Given the description of an element on the screen output the (x, y) to click on. 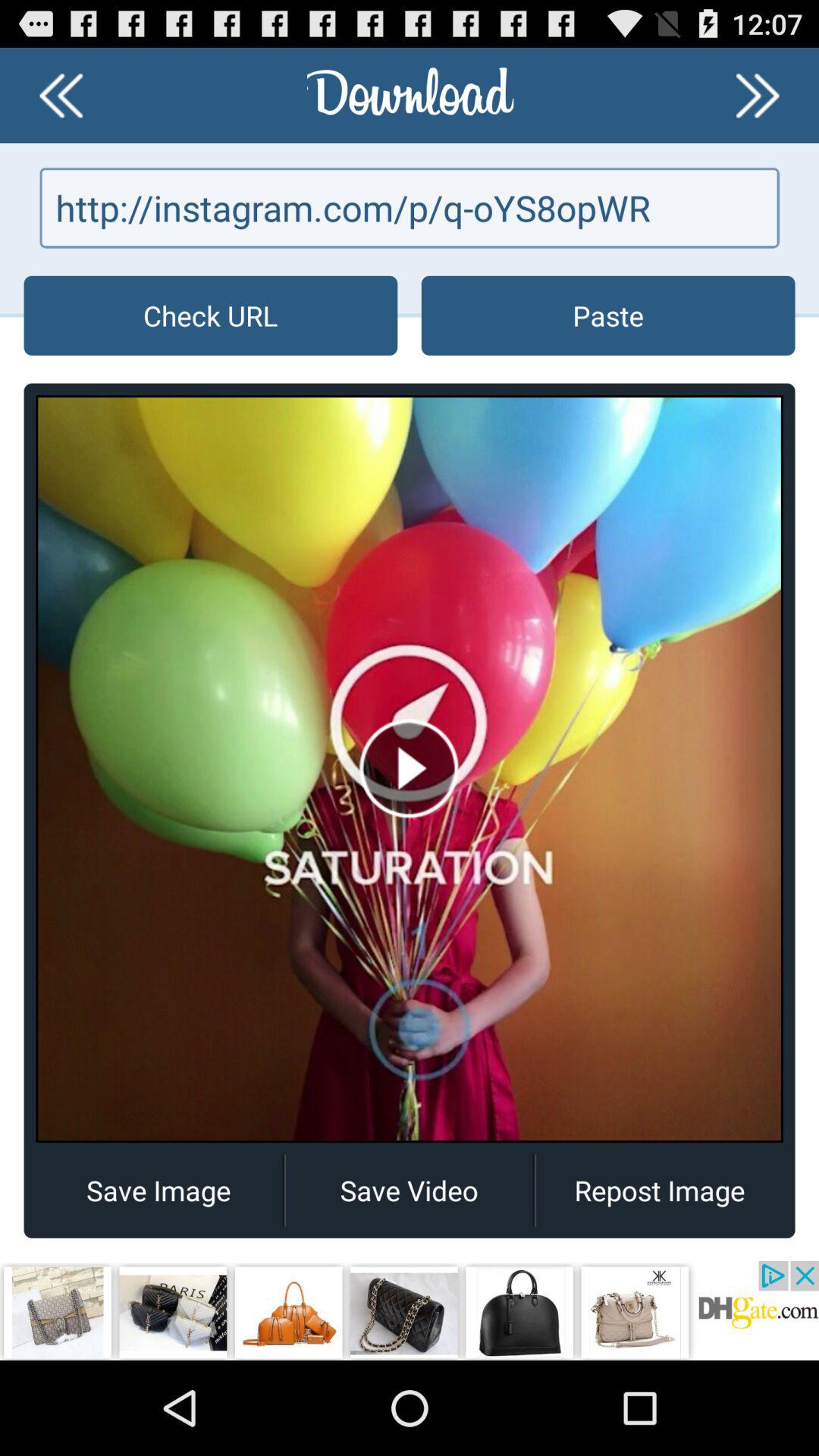
go back (61, 95)
